Given the description of an element on the screen output the (x, y) to click on. 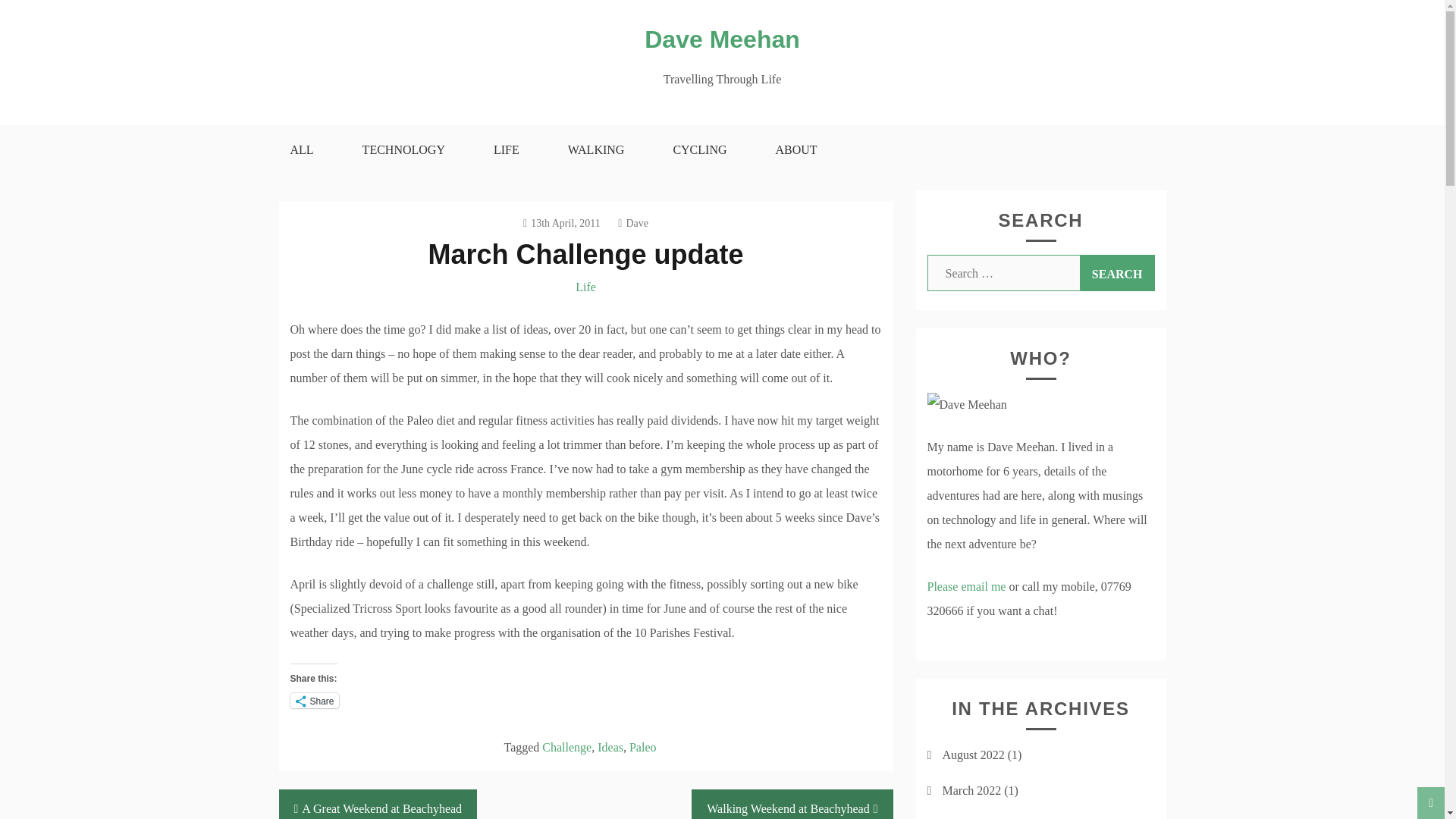
WALKING (595, 150)
Paleo (642, 747)
A Great Weekend at Beachyhead (378, 804)
Search (1117, 272)
TECHNOLOGY (403, 150)
CYCLING (699, 150)
Search (1117, 272)
Dave Meehan (722, 39)
LIFE (505, 150)
Ideas (609, 747)
